Given the description of an element on the screen output the (x, y) to click on. 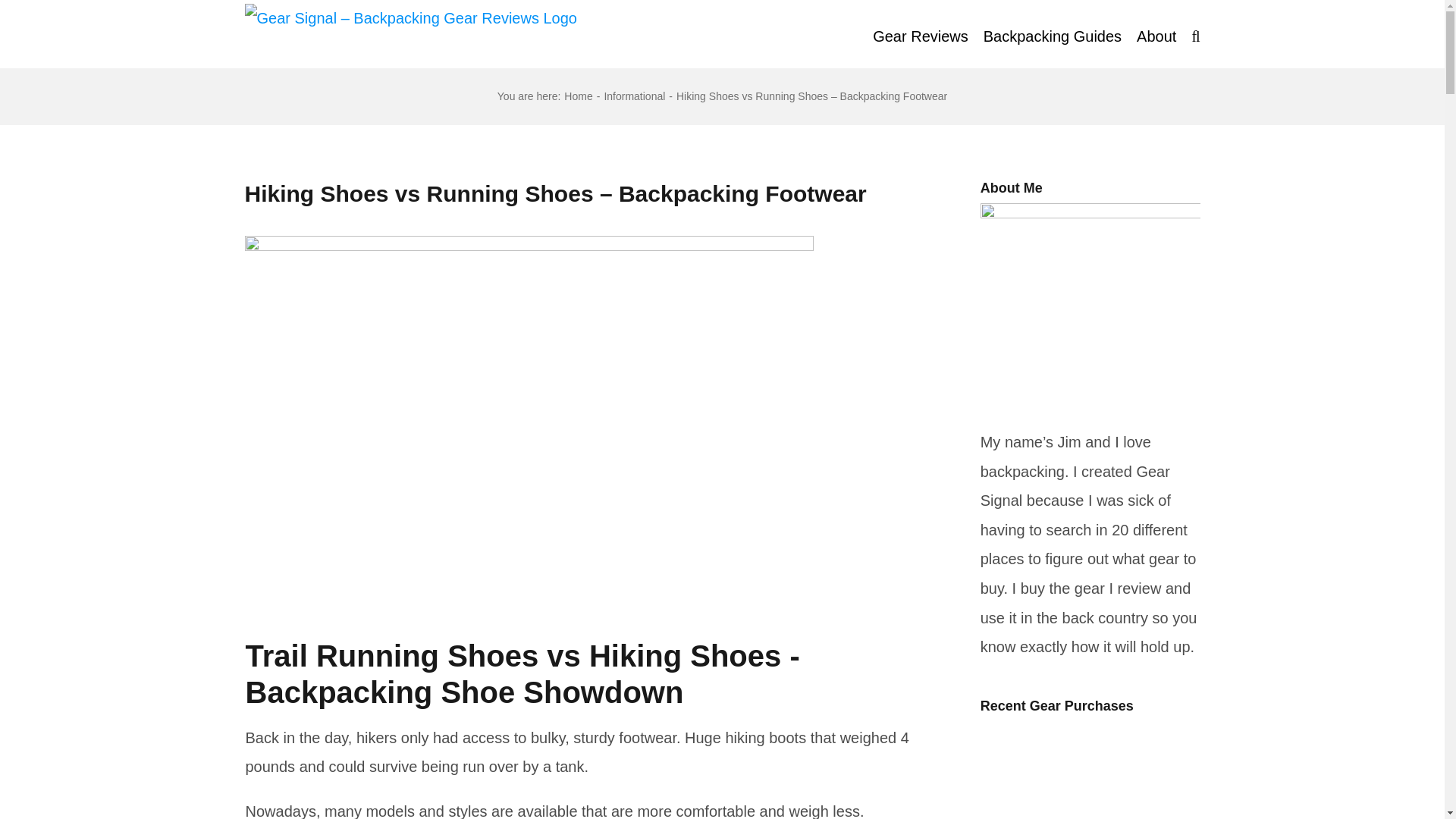
Backpacking Guides (1052, 33)
Home (578, 96)
Informational (634, 96)
About (1156, 33)
Gear Reviews (920, 33)
Search (1195, 33)
